Given the description of an element on the screen output the (x, y) to click on. 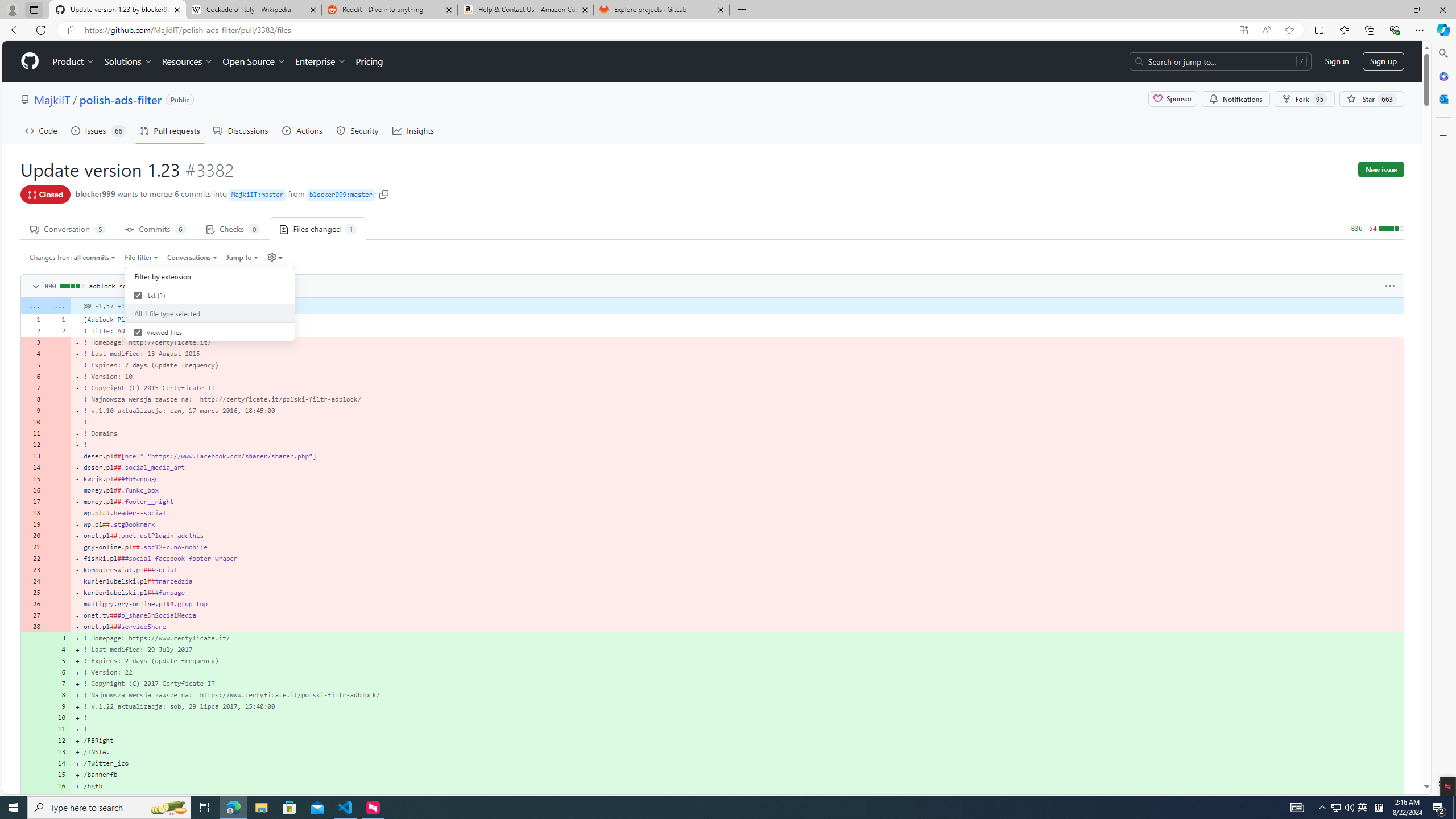
16 (58, 785)
Class: show-top-border (711, 797)
Class: SelectMenu js-file-filter (210, 306)
19 (33, 523)
- kurierlubelski.pl###fanpage (737, 592)
MajkiIT (51, 99)
Enterprise (319, 60)
22 (33, 558)
blocker999 : master (340, 195)
blocker999 (95, 193)
